Given the description of an element on the screen output the (x, y) to click on. 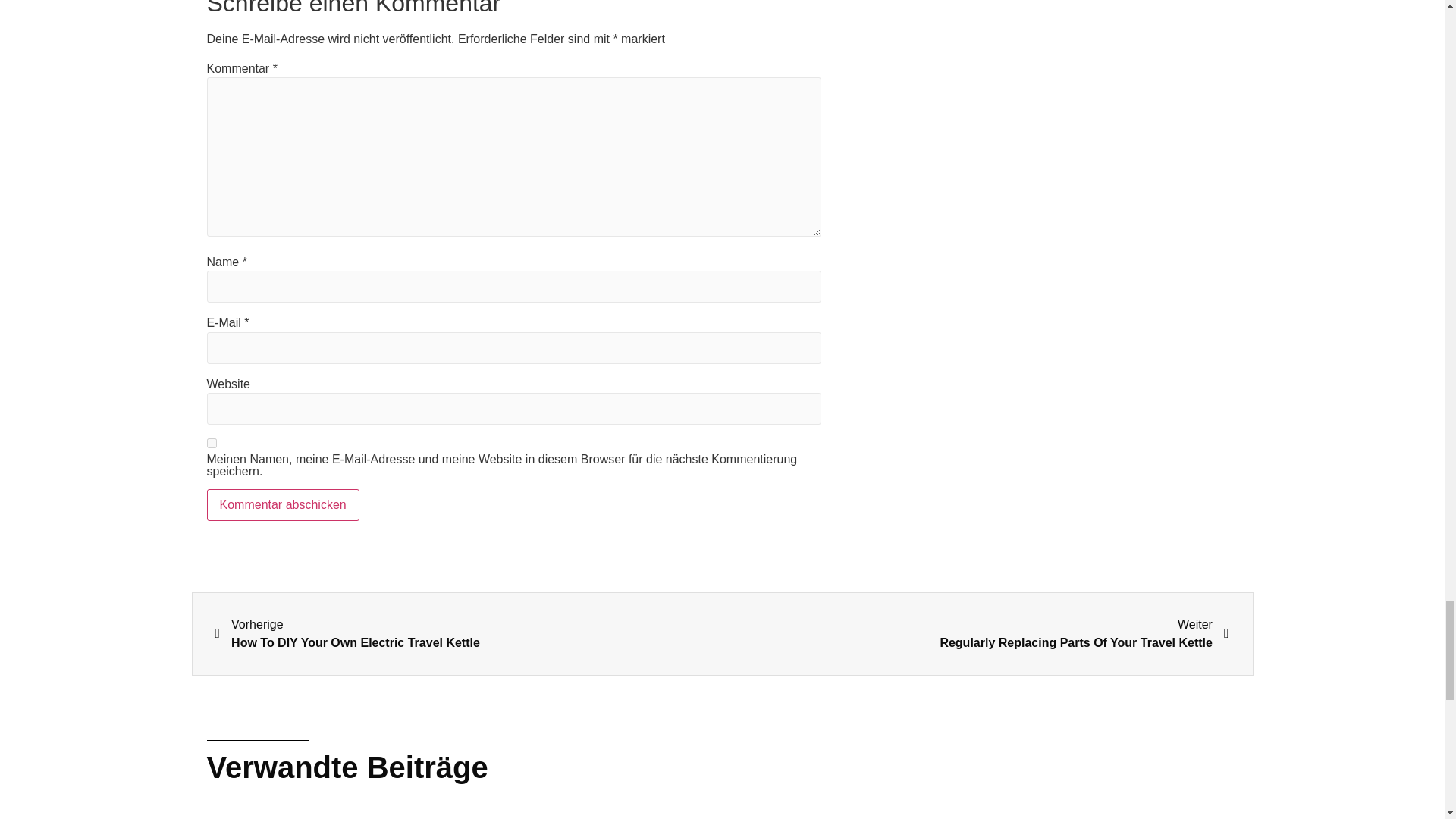
Kommentar abschicken (282, 504)
yes (210, 442)
